Given the description of an element on the screen output the (x, y) to click on. 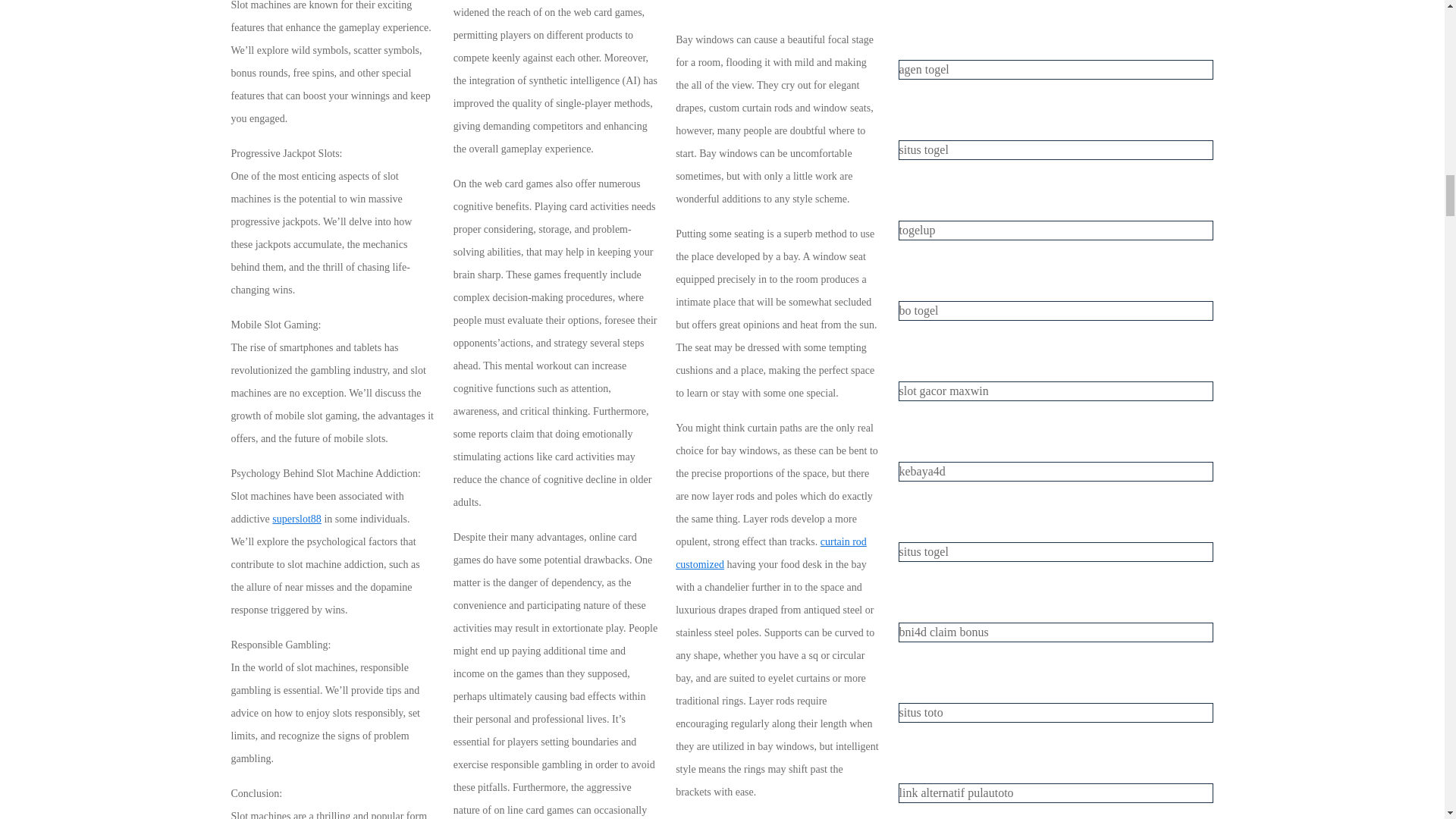
superslot88 (296, 518)
curtain rod customized (770, 553)
